Given the description of an element on the screen output the (x, y) to click on. 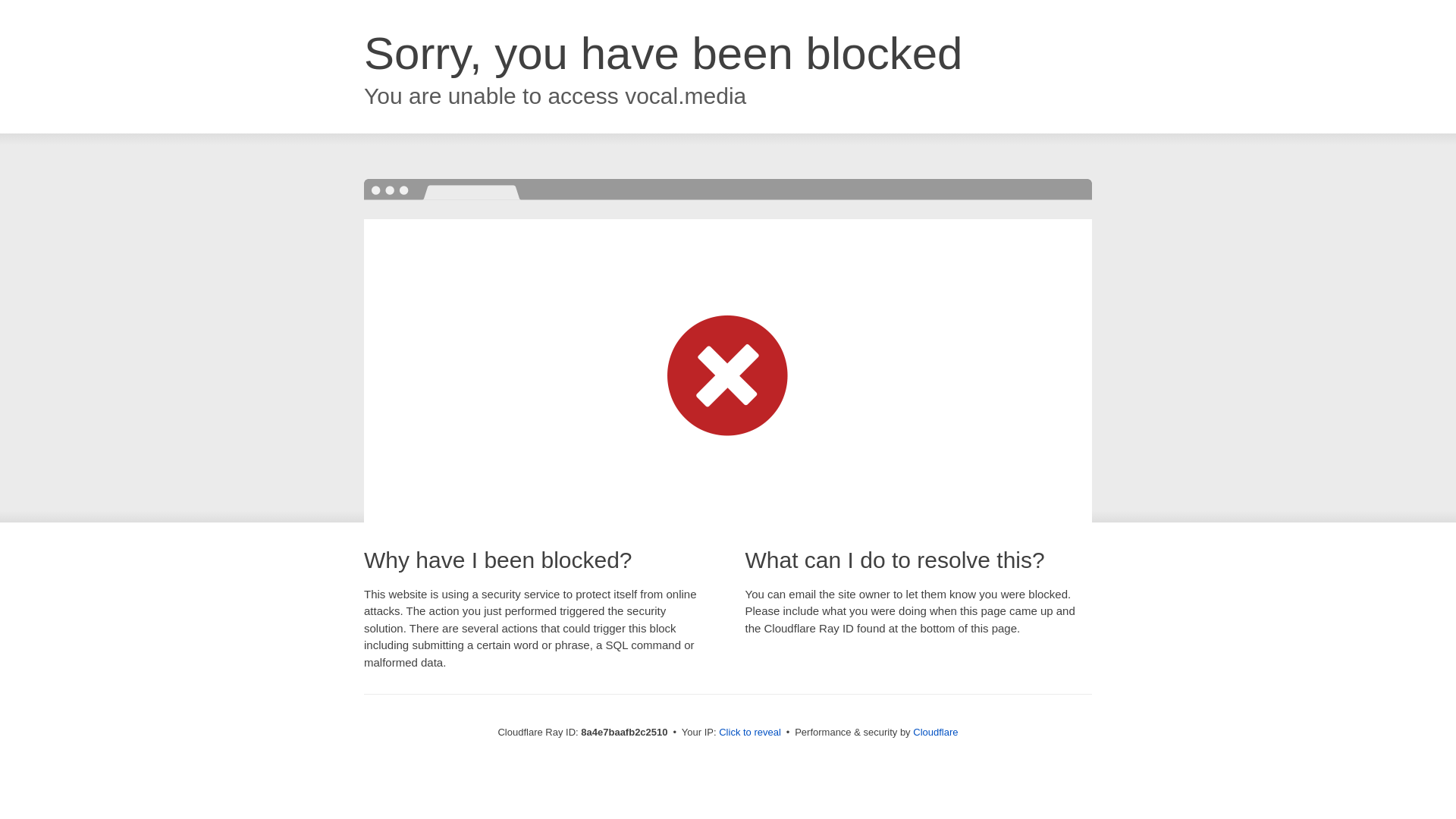
Cloudflare (935, 731)
Click to reveal (749, 732)
